Given the description of an element on the screen output the (x, y) to click on. 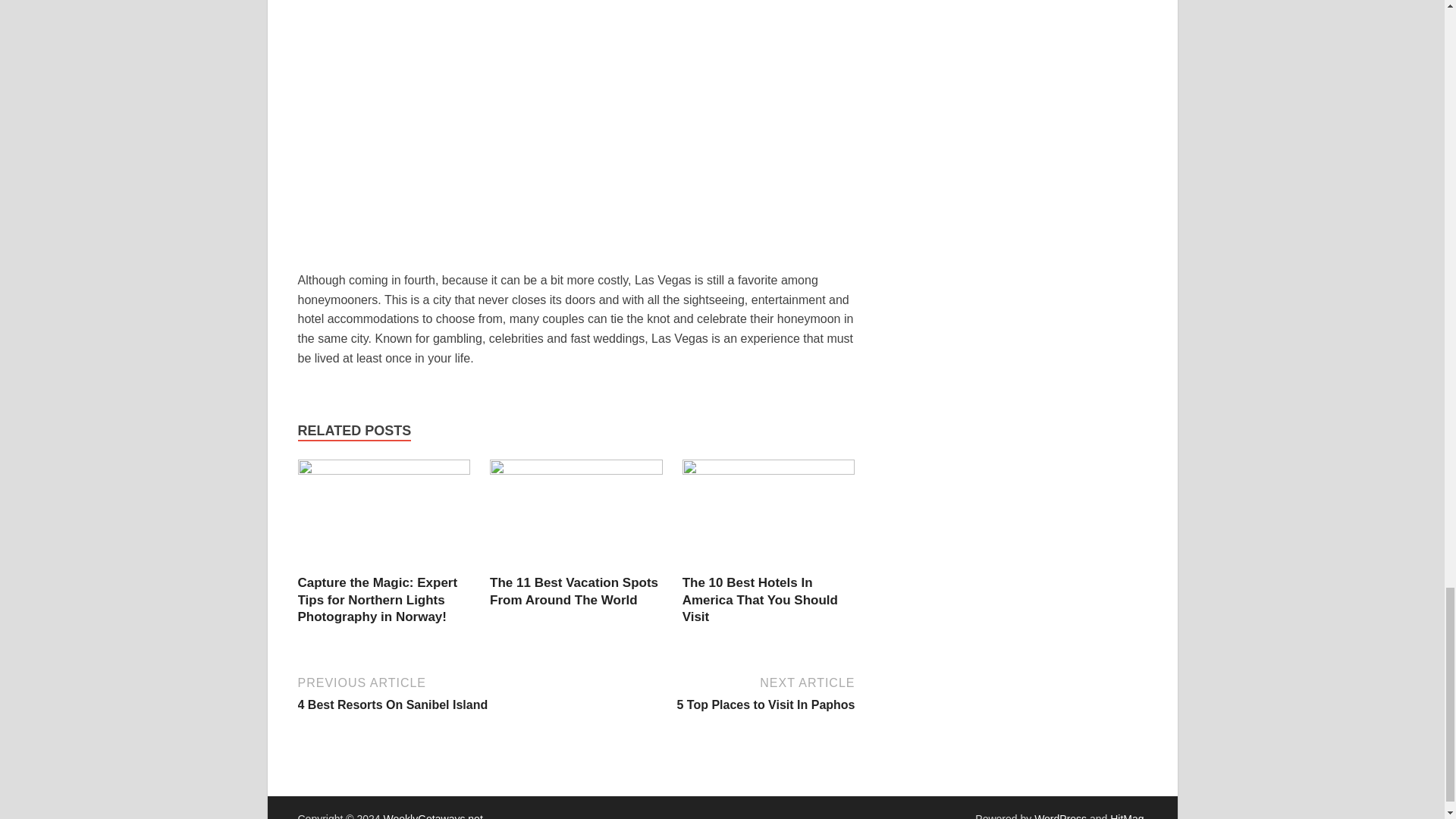
The 11 Best Vacation Spots From Around The World (573, 590)
The 10 Best Hotels In America That You Should Visit (769, 470)
The 11 Best Vacation Spots From Around The World (717, 692)
The 10 Best Hotels In America That You Should Visit (573, 590)
The 11 Best Vacation Spots From Around The World (760, 599)
The 10 Best Hotels In America That You Should Visit (575, 470)
